Given the description of an element on the screen output the (x, y) to click on. 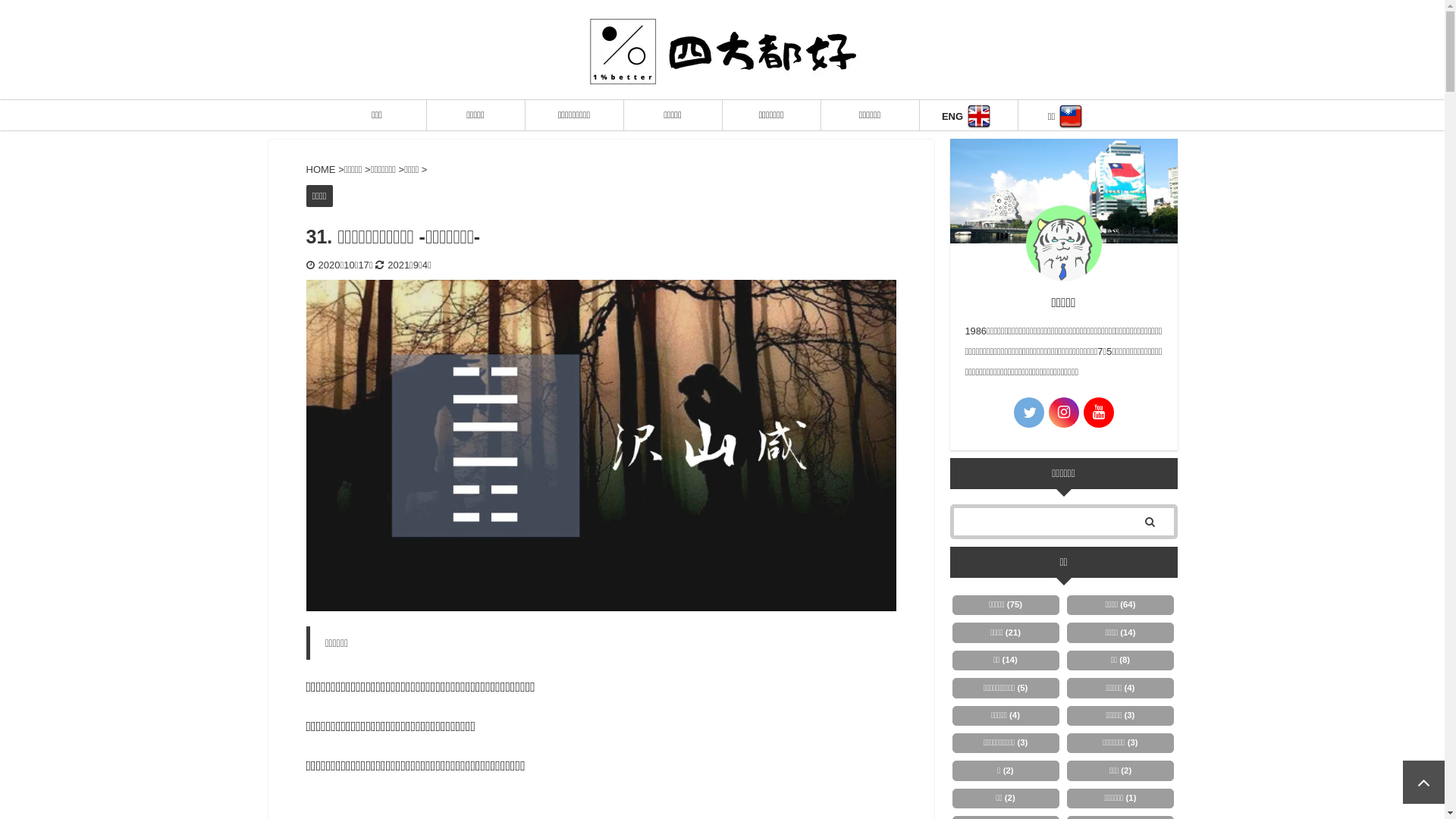
HOME Element type: text (322, 169)
ENG Element type: text (967, 115)
